Given the description of an element on the screen output the (x, y) to click on. 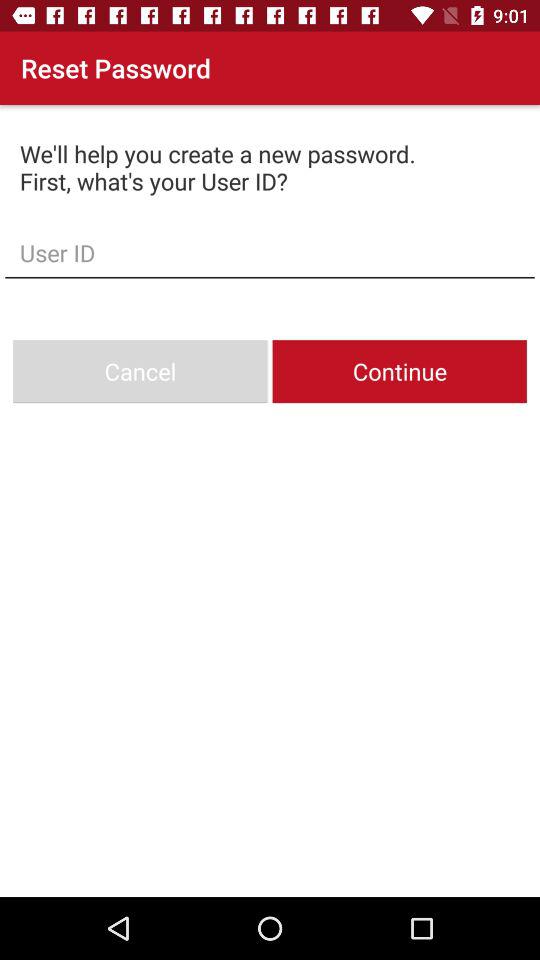
open the item above cancel (270, 252)
